Given the description of an element on the screen output the (x, y) to click on. 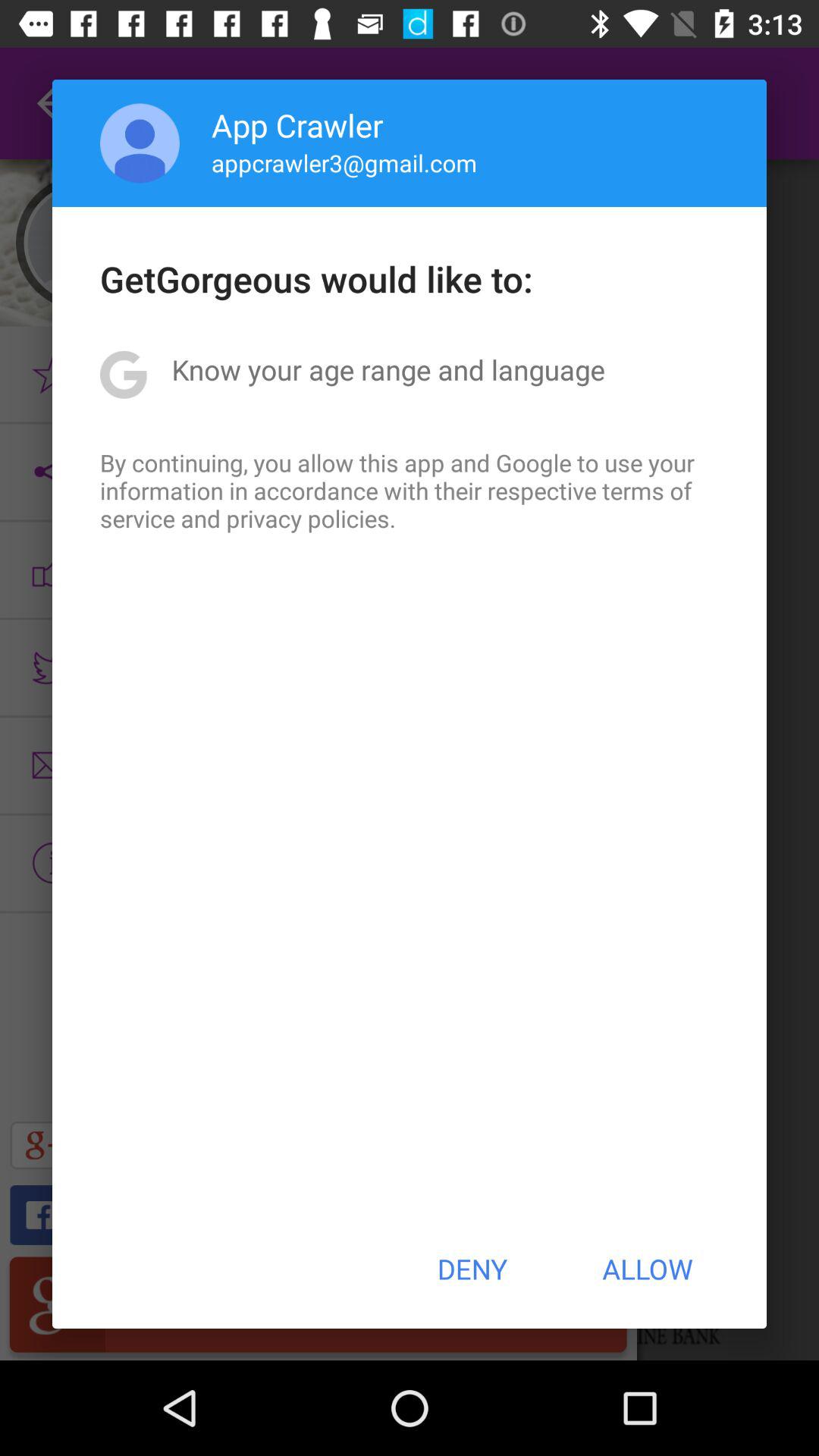
turn on the app next to app crawler icon (139, 143)
